Given the description of an element on the screen output the (x, y) to click on. 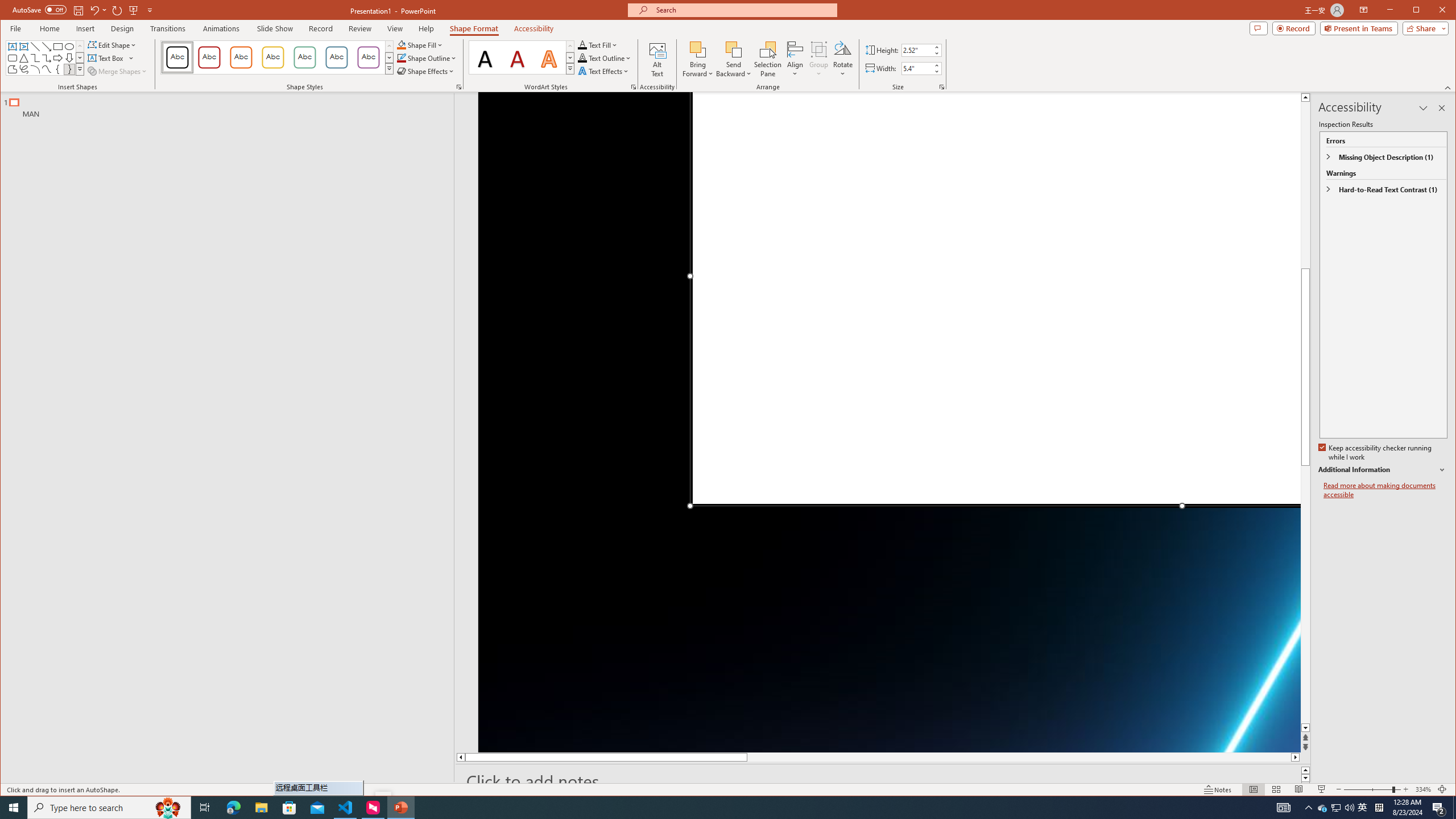
Shape Width (916, 68)
Colored Outline - Black, Dark 1 (177, 57)
Group (818, 59)
Align (794, 59)
